Given the description of an element on the screen output the (x, y) to click on. 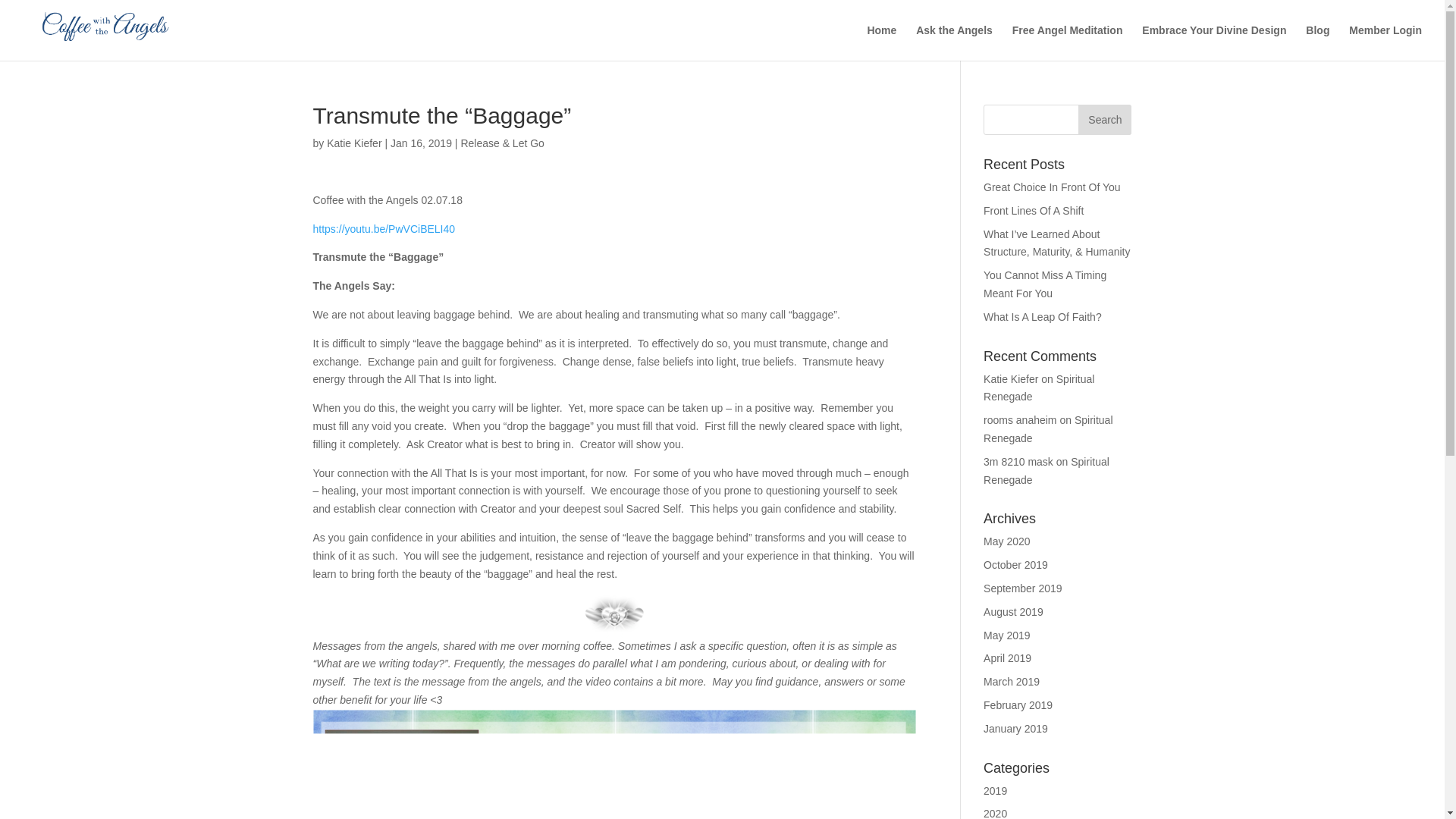
Katie Kiefer (1011, 378)
Katie Kiefer (353, 143)
Great Choice In Front Of You (1052, 186)
Embrace Your Divine Design (1213, 42)
March 2019 (1011, 681)
April 2019 (1007, 657)
What Is A Leap Of Faith? (1043, 316)
May 2020 (1006, 541)
August 2019 (1013, 612)
rooms anaheim (1020, 419)
